Given the description of an element on the screen output the (x, y) to click on. 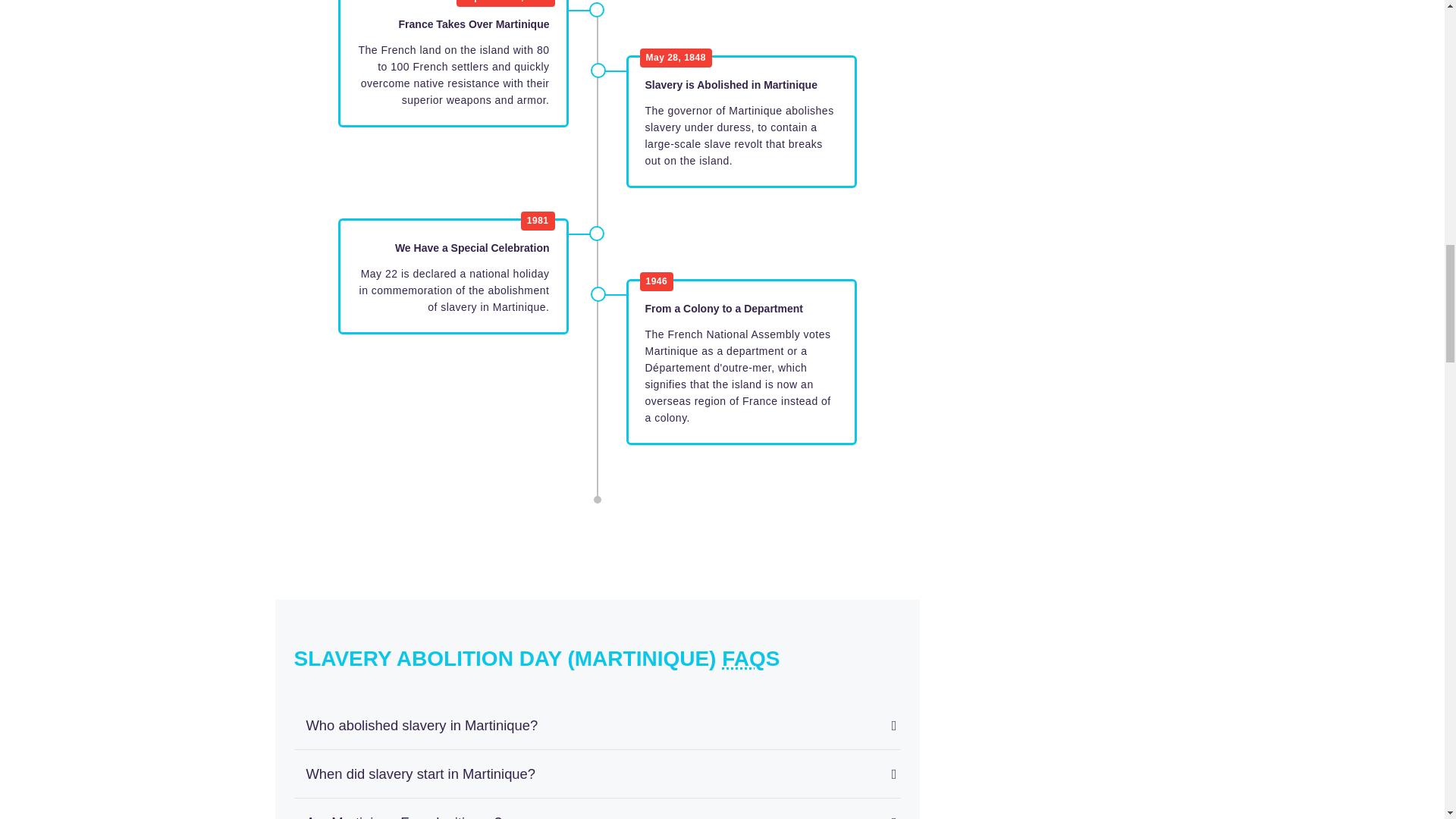
Frequently asked question (743, 658)
